Given the description of an element on the screen output the (x, y) to click on. 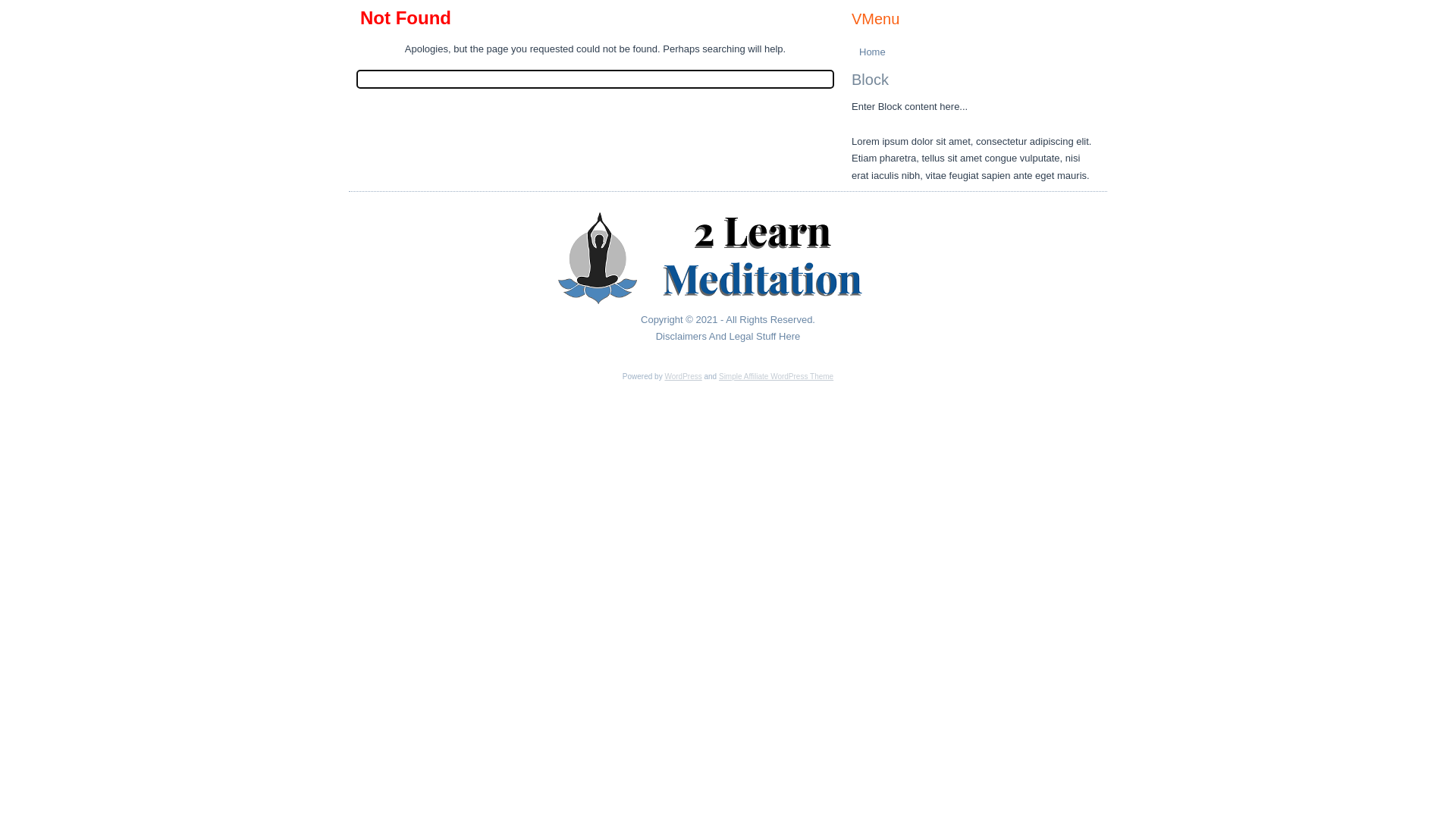
Simple Affiliate WordPress Theme Element type: text (775, 376)
WordPress Element type: text (682, 376)
Home Element type: text (974, 51)
